Given the description of an element on the screen output the (x, y) to click on. 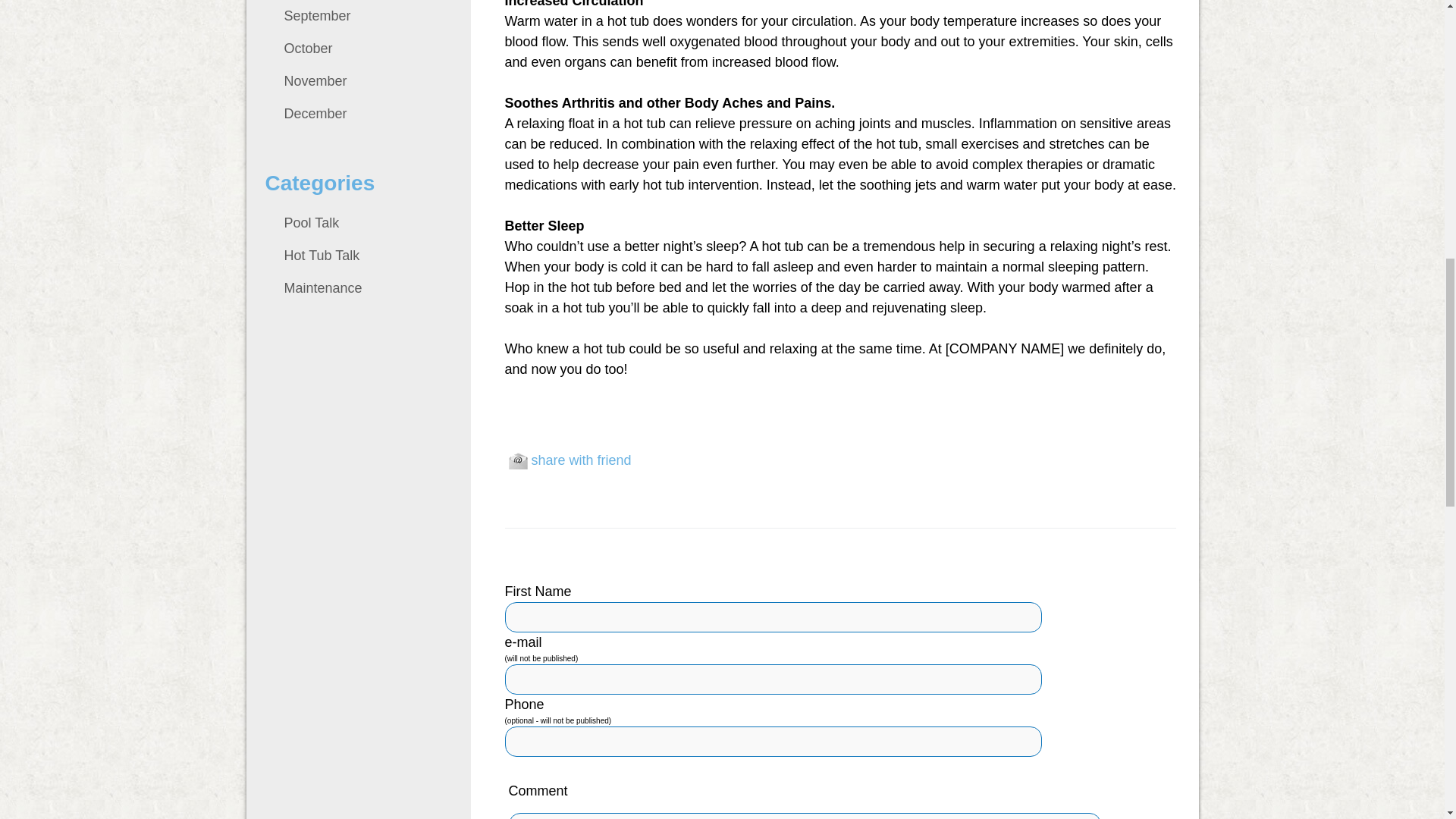
Email this page (517, 461)
